Given the description of an element on the screen output the (x, y) to click on. 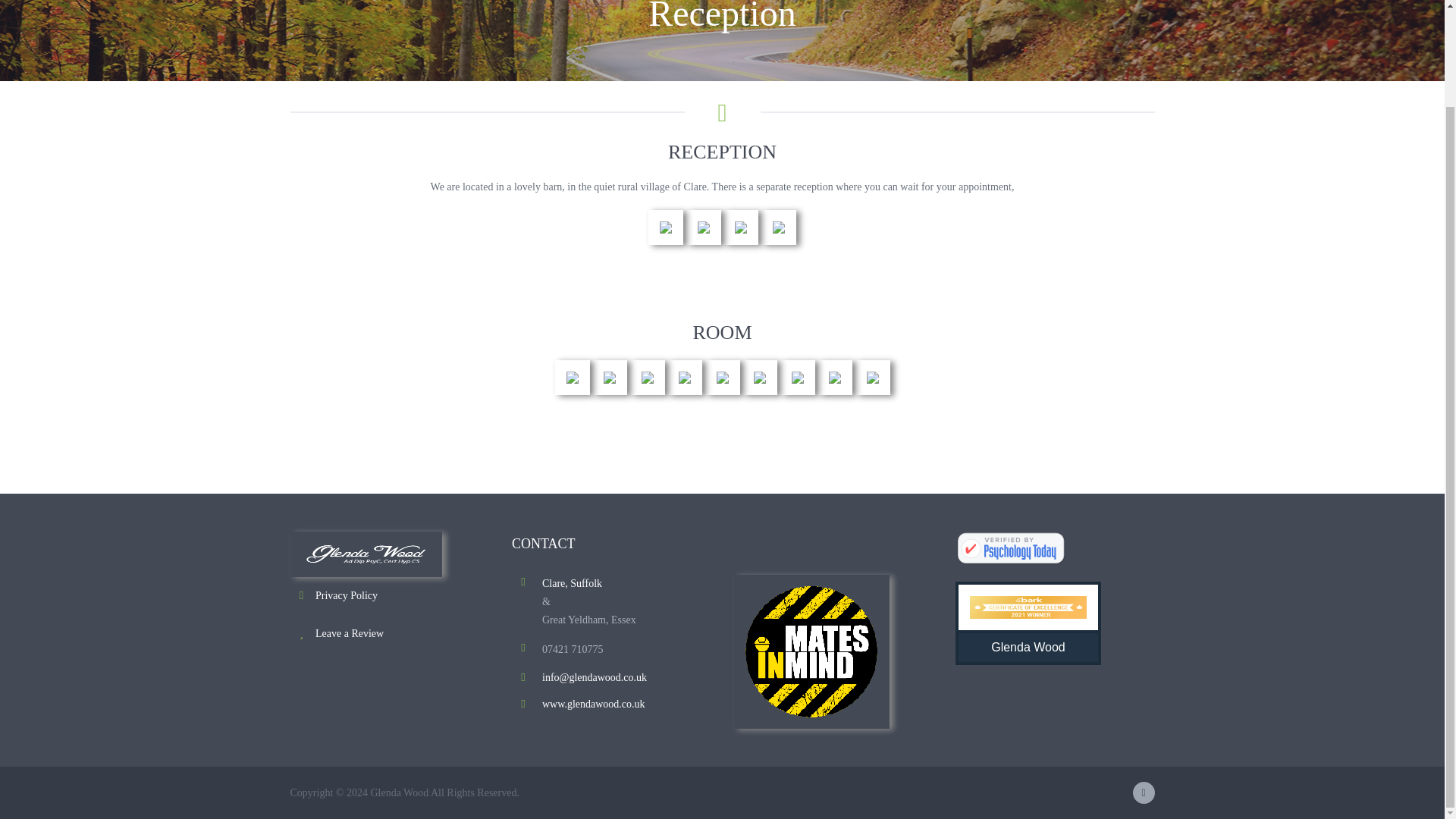
Clare, Suffolk (571, 583)
Leave a Review (349, 633)
Glenda Wood (1010, 548)
Glenda Wood (1027, 623)
www.glendawood.co.uk (593, 704)
Privacy Policy (346, 595)
